Given the description of an element on the screen output the (x, y) to click on. 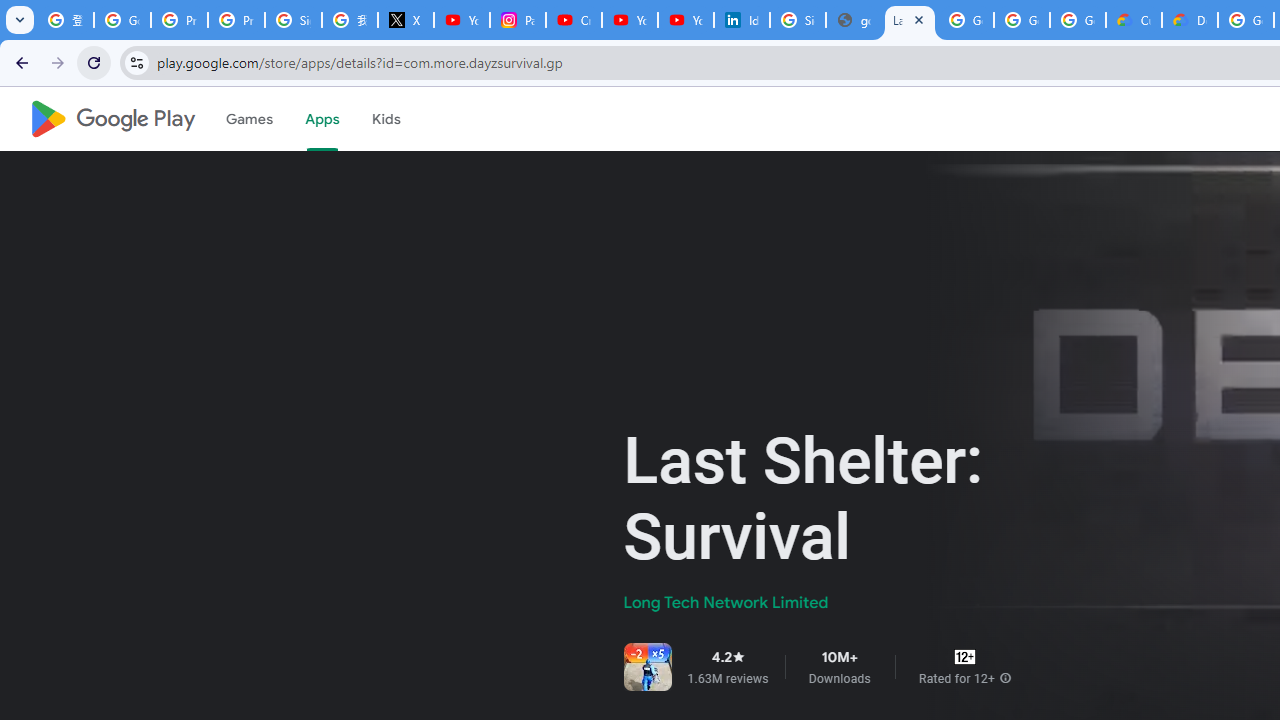
X (405, 20)
YouTube Culture & Trends - YouTube Top 10, 2021 (685, 20)
Apps (321, 119)
